Given the description of an element on the screen output the (x, y) to click on. 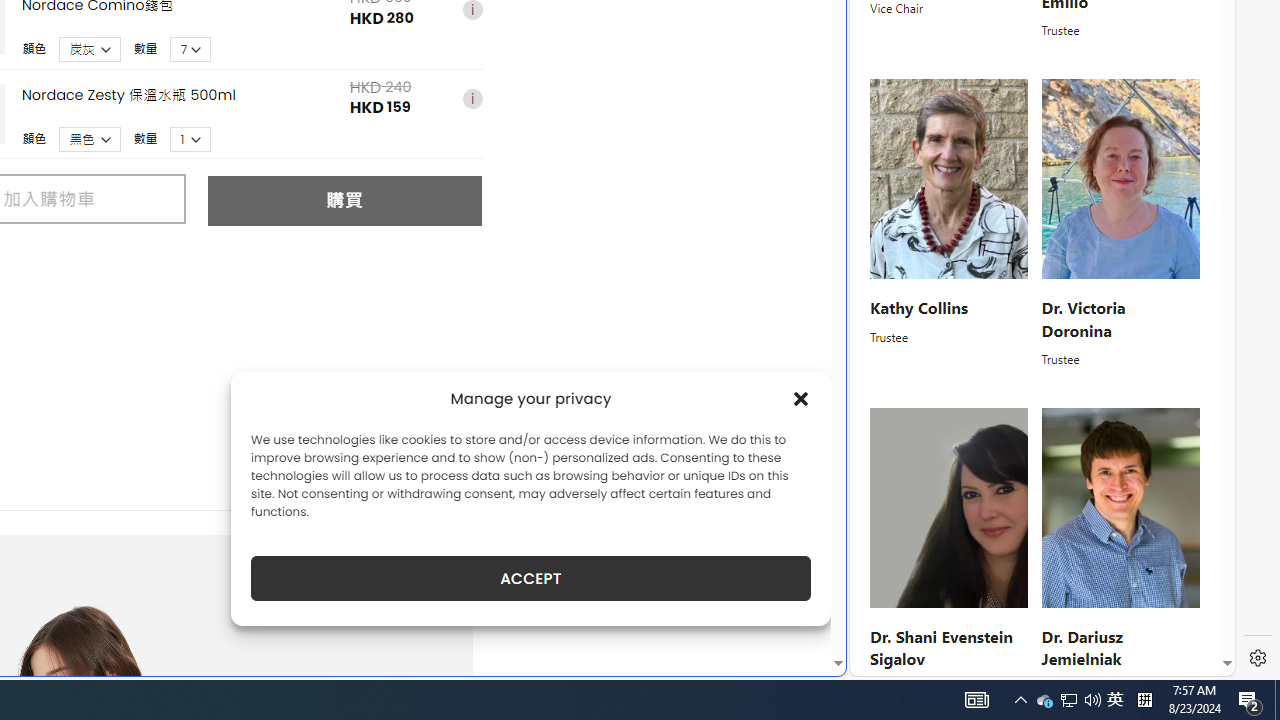
Dr. Dariusz Jemielniak (1080, 647)
Dr. Shani Evenstein Sigalov (940, 647)
Dr. Dariusz JemielniakTrustee (1120, 552)
Dr. Victoria DoroninaTrustee (1120, 223)
ACCEPT (530, 578)
